Given the description of an element on the screen output the (x, y) to click on. 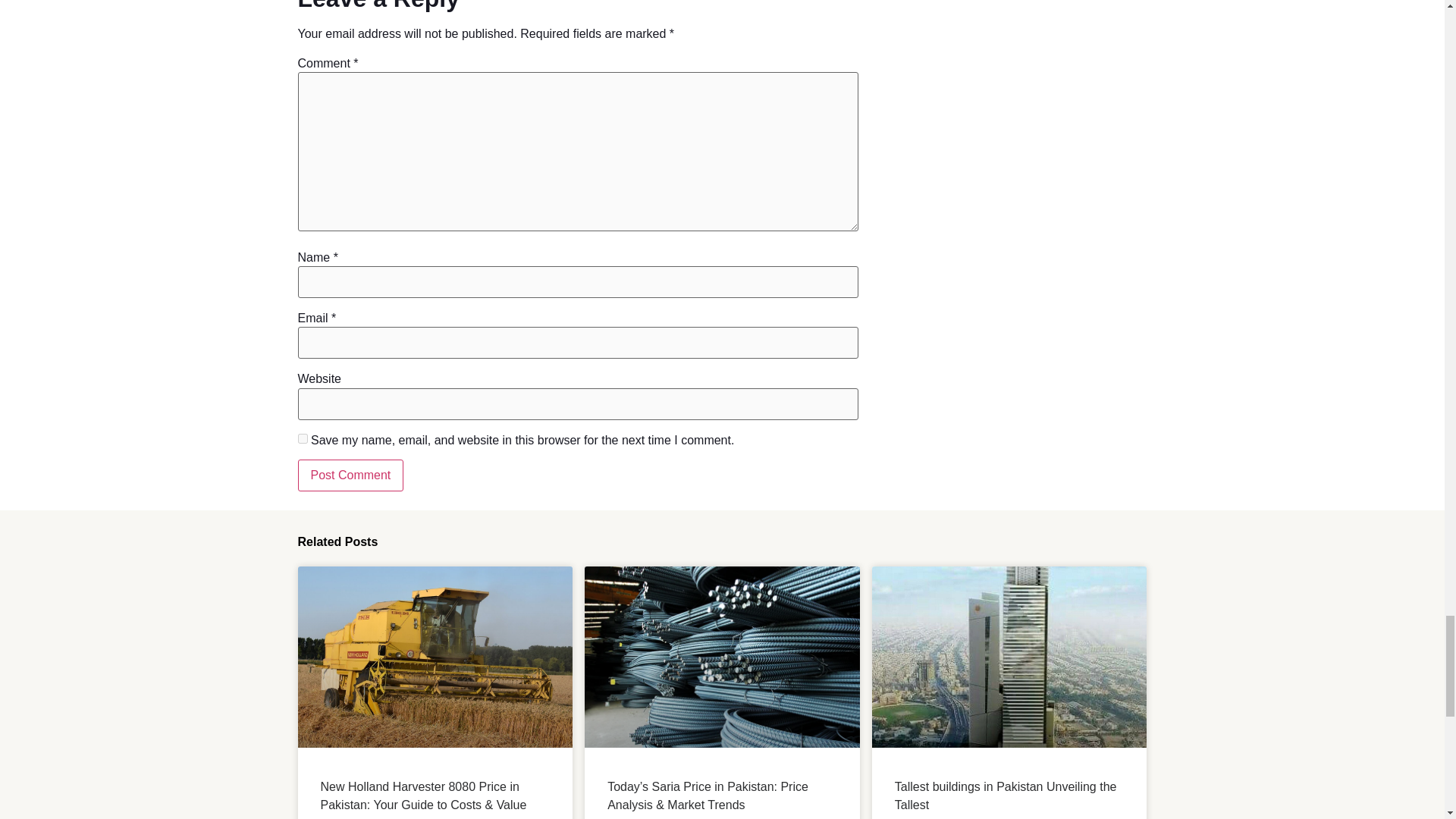
yes (302, 438)
Post Comment (350, 475)
Post Comment (350, 475)
